Given the description of an element on the screen output the (x, y) to click on. 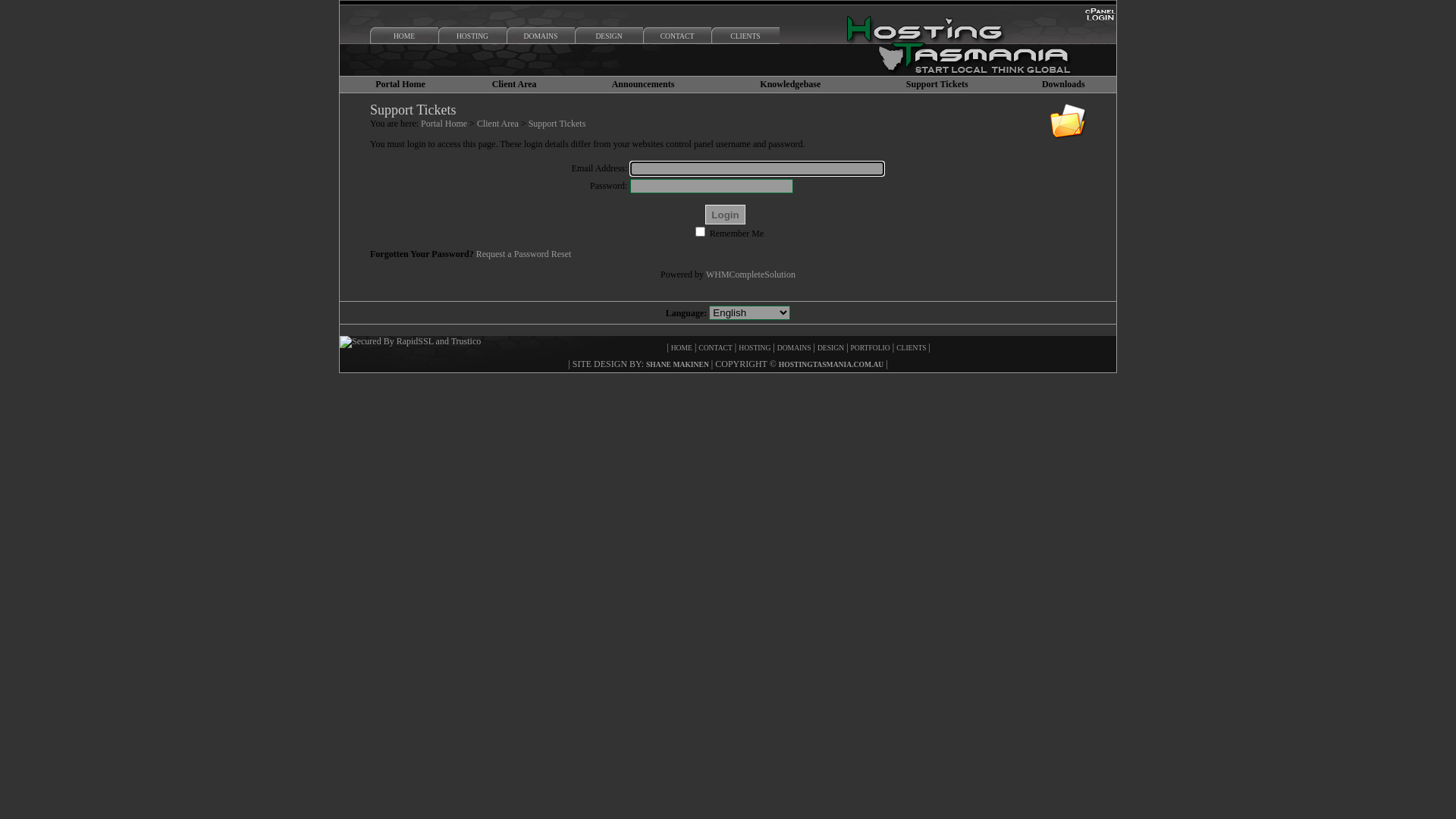
Client Area Element type: text (514, 83)
HOME Element type: text (681, 347)
SHANE MAKINEN Element type: text (677, 364)
Support Tickets Element type: text (557, 123)
CLIENTS Element type: text (910, 347)
HOSTING Element type: text (472, 37)
Support Tickets Element type: text (937, 83)
Portal Home Element type: text (443, 123)
Request a Password Reset Element type: text (523, 253)
DESIGN Element type: text (608, 37)
Portal Home Element type: text (400, 83)
Login Element type: text (724, 214)
Knowledgebase Element type: text (789, 83)
Secured By RapidSSL and Trustico Element type: hover (409, 341)
PORTFOLIO Element type: text (870, 347)
DESIGN Element type: text (830, 347)
Announcements Element type: text (642, 83)
Downloads Element type: text (1063, 83)
Login to your Web Hosting Control Panel Element type: hover (1100, 19)
HOSTING Element type: text (754, 347)
HOME Element type: text (404, 37)
CLIENTS Element type: text (745, 37)
WHMCompleteSolution Element type: text (750, 274)
CONTACT Element type: text (715, 347)
CONTACT Element type: text (677, 37)
HOSTINGTASMANIA.COM.AU Element type: text (830, 364)
Client Area Element type: text (497, 123)
DOMAINS Element type: text (794, 347)
DOMAINS Element type: text (540, 37)
